Given the description of an element on the screen output the (x, y) to click on. 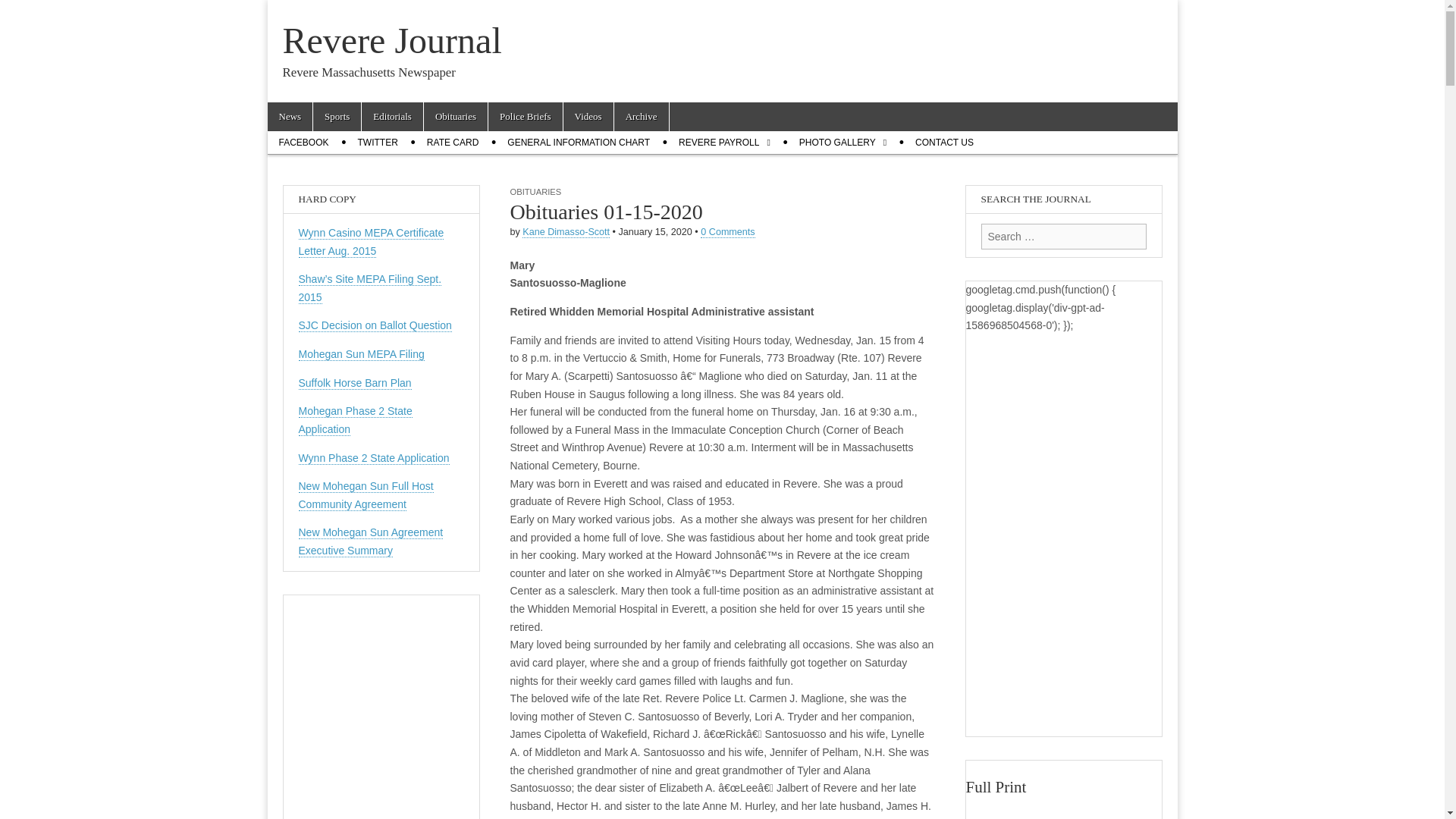
Suffolk Horse Barn Plan (355, 382)
OBITUARIES (534, 191)
RATE CARD (451, 142)
Wynn Casino MEPA Certificate Letter Aug. 2015 (371, 241)
Mohegan Sun MEPA Filing (361, 354)
Editorials (392, 116)
TWITTER (377, 142)
Obituaries (455, 116)
Revere Journal (391, 40)
Posts by Kane Dimasso-Scott (566, 232)
CONTACT US (944, 142)
0 Comments (727, 232)
REVERE PAYROLL (723, 142)
